Given the description of an element on the screen output the (x, y) to click on. 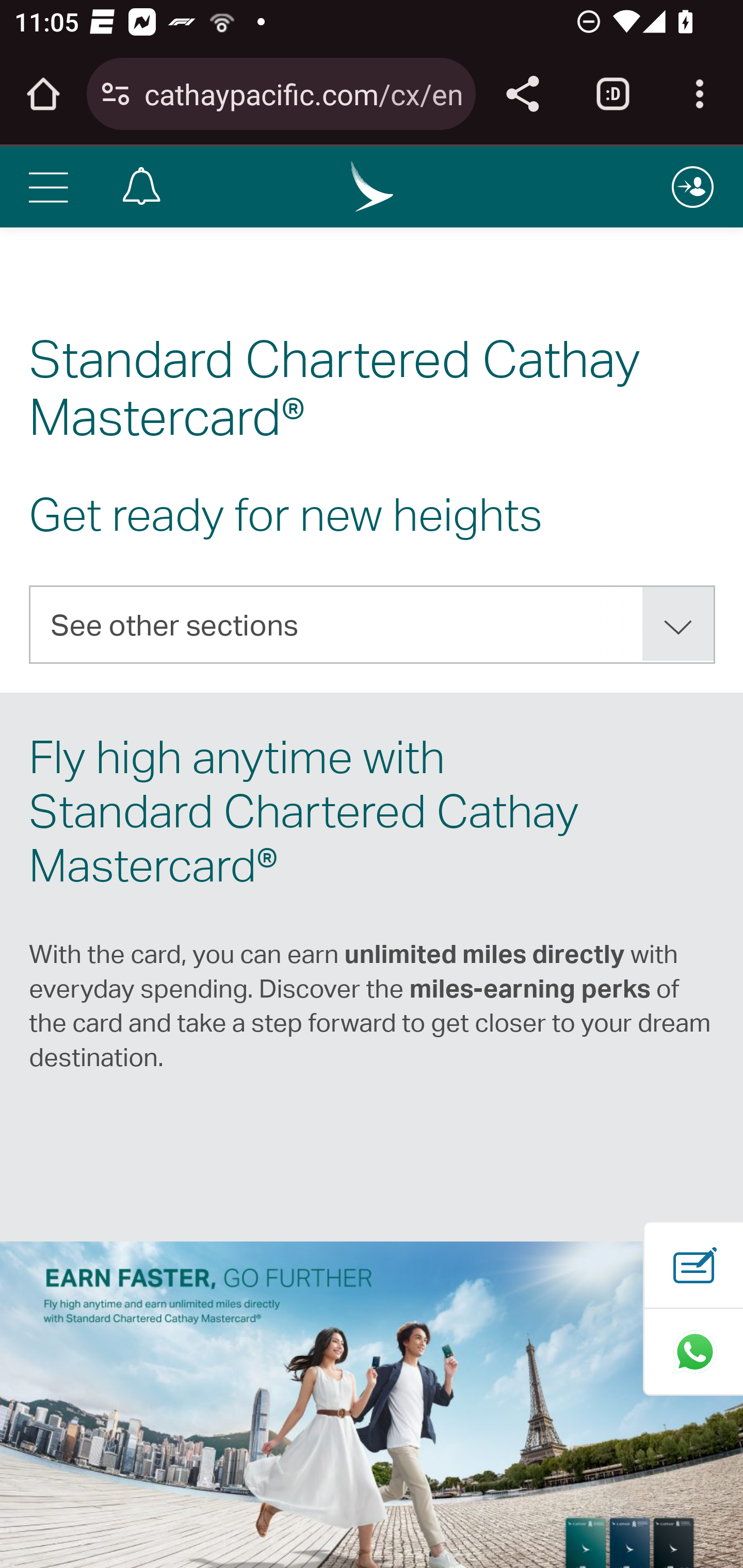
Open the home page (43, 93)
Connection is secure (115, 93)
Share (522, 93)
Switch or close tabs (612, 93)
Customize and control Google Chrome (699, 93)
Menu (47, 186)
Notification centre (141, 186)
en_HK (372, 186)
See other sections (372, 624)
